Given the description of an element on the screen output the (x, y) to click on. 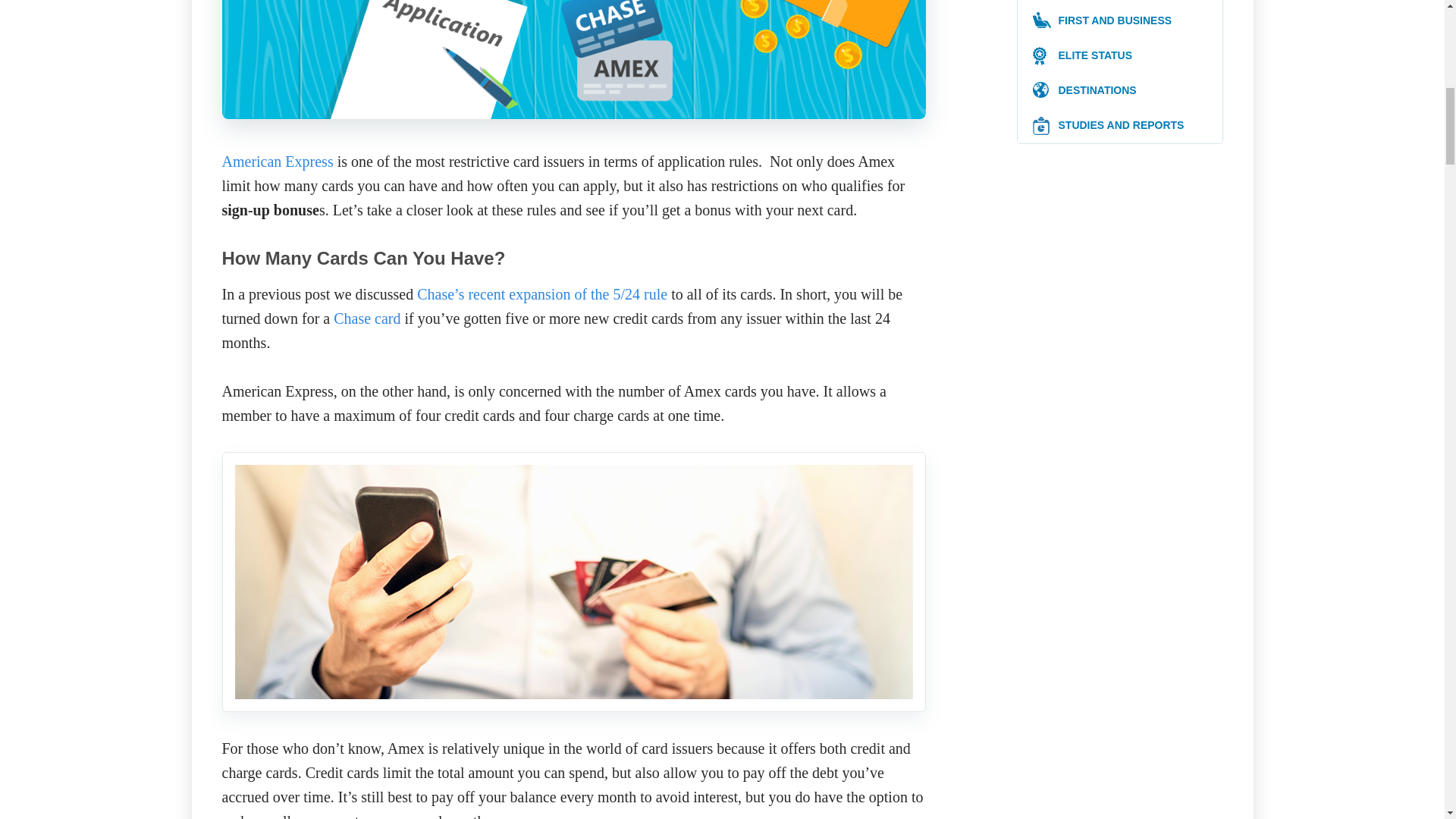
Chase card (366, 318)
American Express (277, 161)
